Given the description of an element on the screen output the (x, y) to click on. 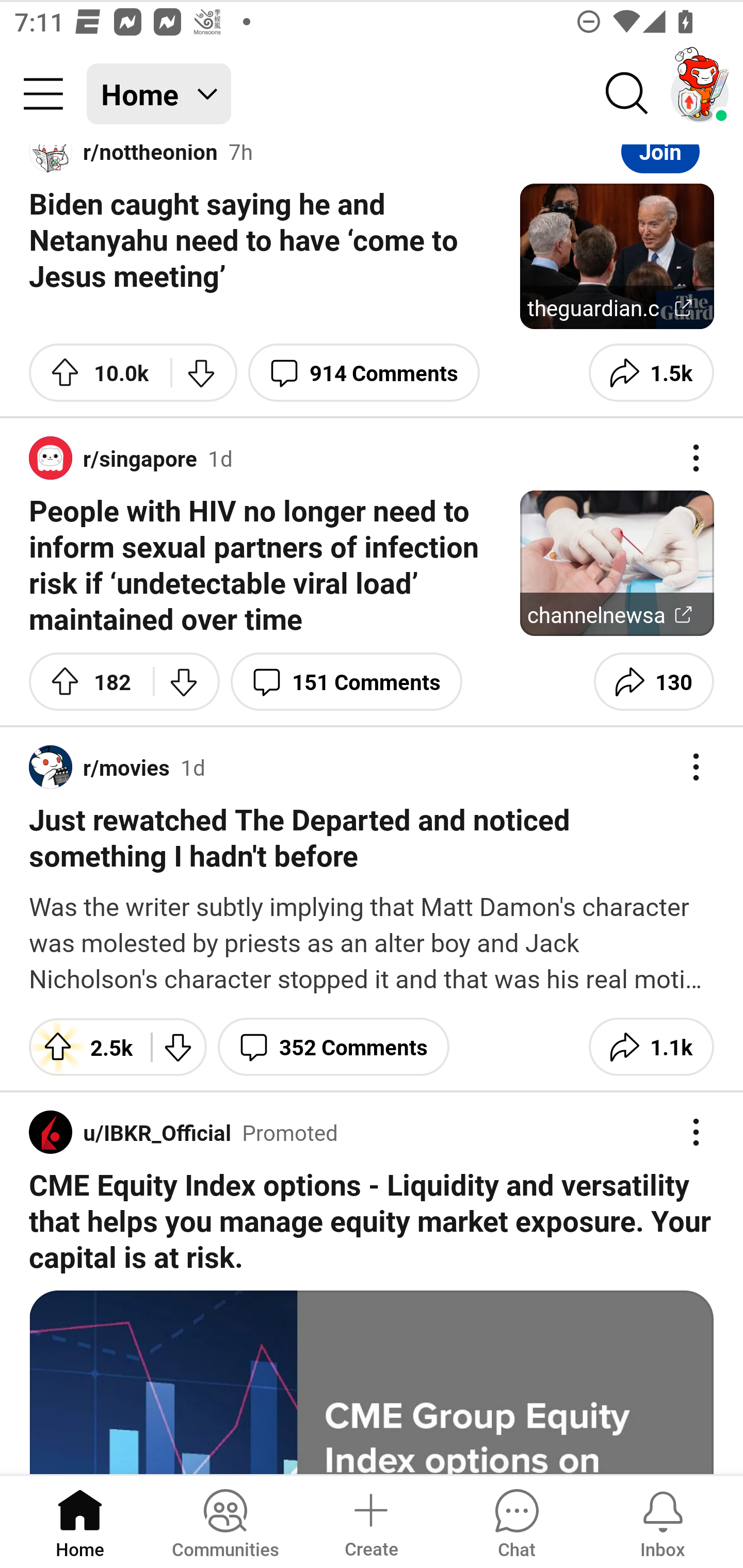
Community menu (43, 93)
Home Home feed (158, 93)
Search (626, 93)
TestAppium002 account (699, 93)
Home (80, 1520)
Communities (225, 1520)
Create a post Create (370, 1520)
Chat (516, 1520)
Inbox (662, 1520)
